Given the description of an element on the screen output the (x, y) to click on. 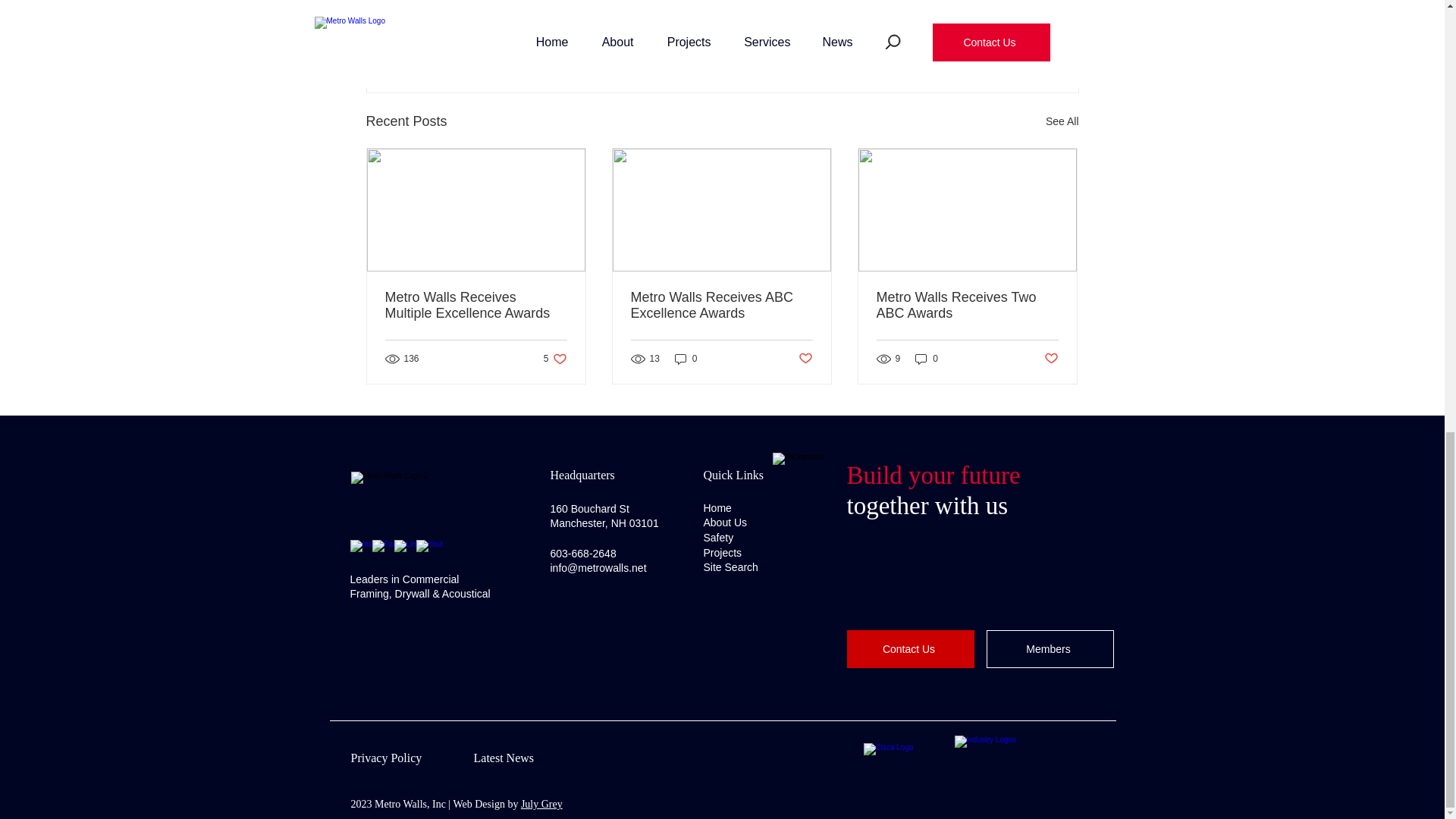
0 (685, 359)
Metro Walls Receives ABC Excellence Awards (721, 305)
Post not marked as liked (555, 359)
See All (804, 358)
Post not marked as liked (1061, 121)
Metro Walls Receives Multiple Excellence Awards (995, 38)
Post not marked as liked (476, 305)
Metro Walls Receives Two ABC Awards (1050, 358)
0 (967, 305)
